Given the description of an element on the screen output the (x, y) to click on. 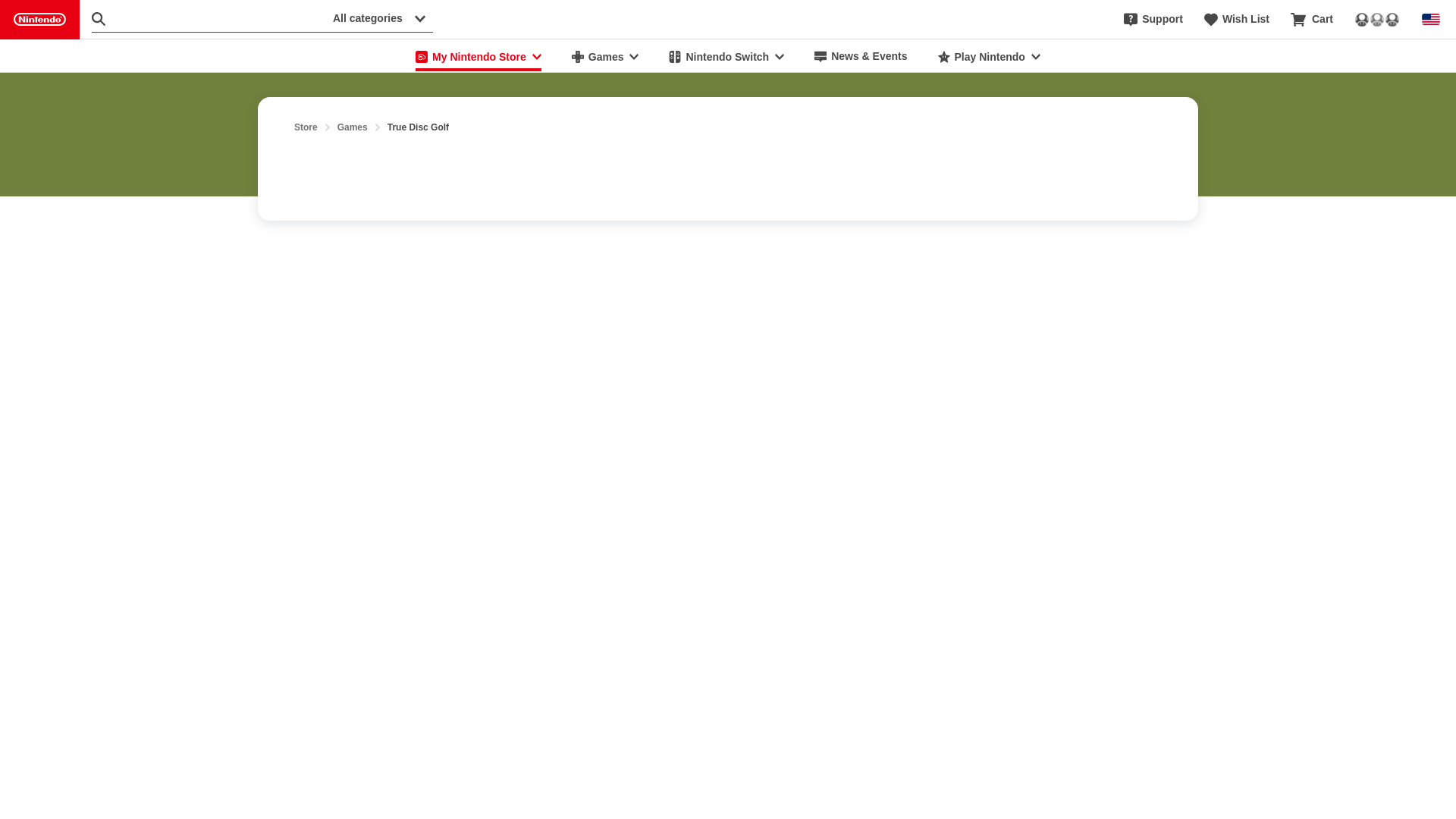
Games (604, 56)
Wish List (1236, 19)
Games (352, 127)
Play Nintendo (988, 56)
My Nintendo Store (478, 56)
Nintendo Switch (726, 56)
Support (1153, 19)
Store (305, 127)
Cart (1311, 19)
Nintendo (40, 19)
